Given the description of an element on the screen output the (x, y) to click on. 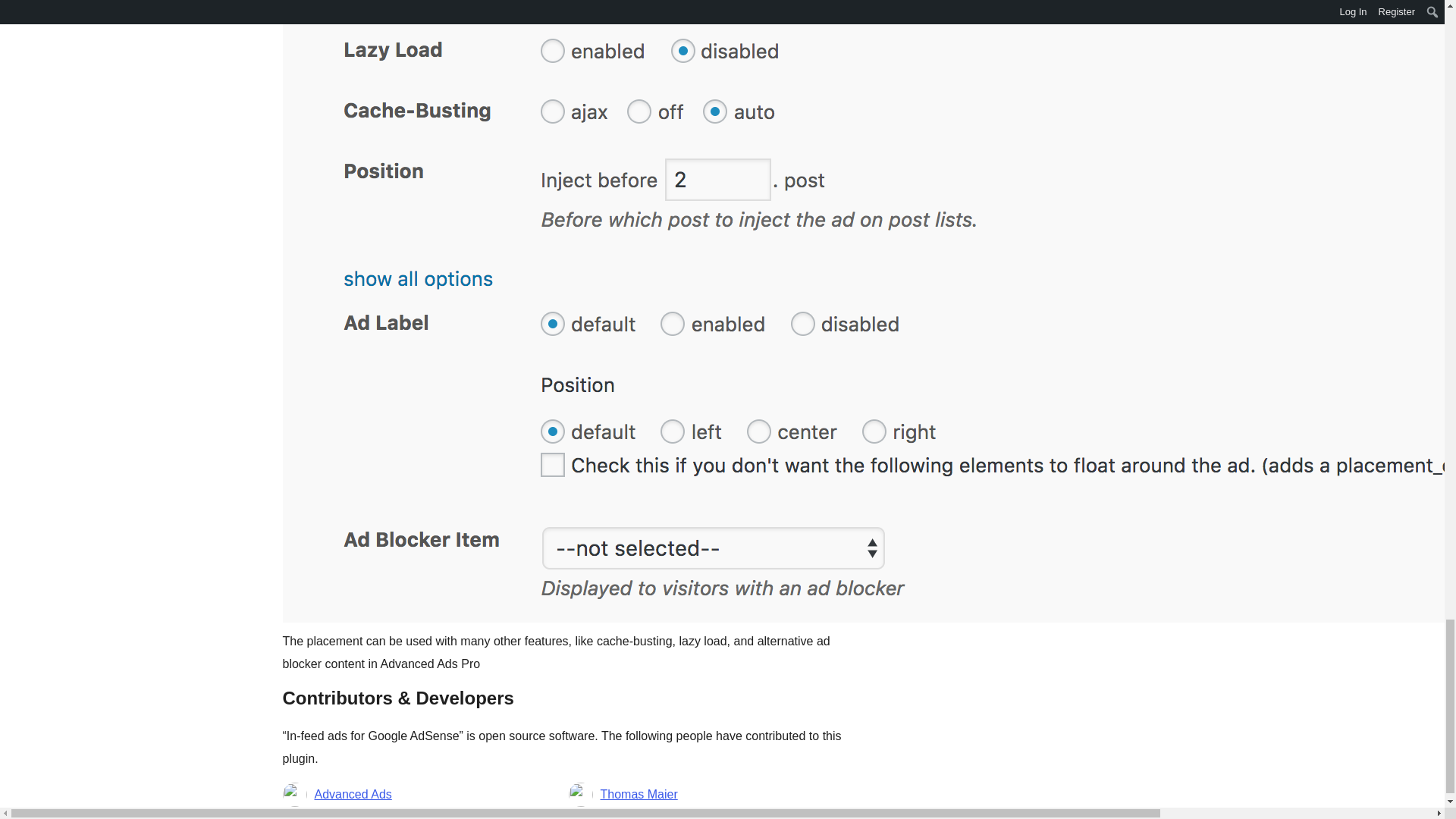
Advanced Ads (352, 793)
Thomas Maier (638, 793)
